Given the description of an element on the screen output the (x, y) to click on. 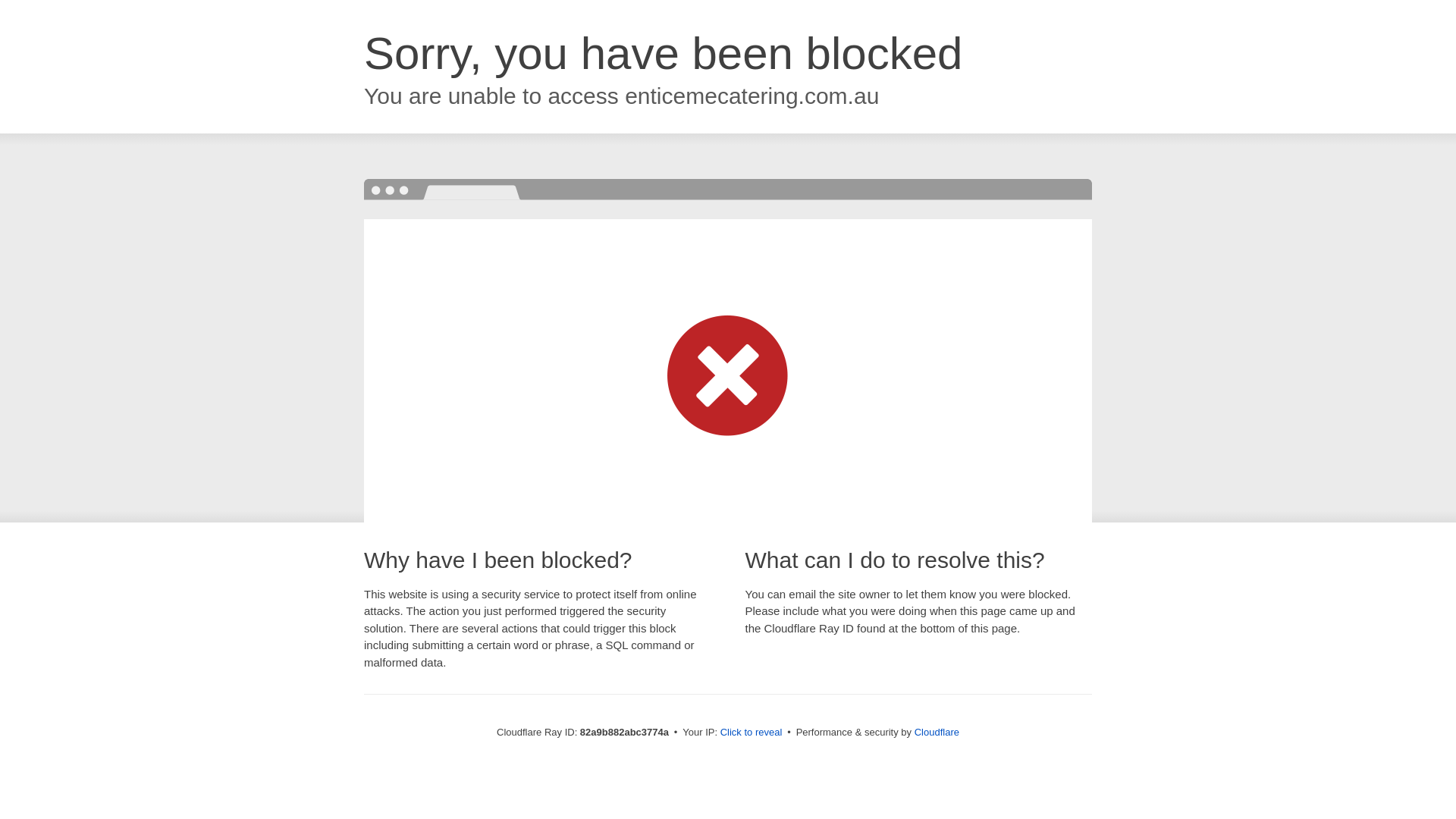
Cloudflare Element type: text (936, 731)
Click to reveal Element type: text (751, 732)
